Given the description of an element on the screen output the (x, y) to click on. 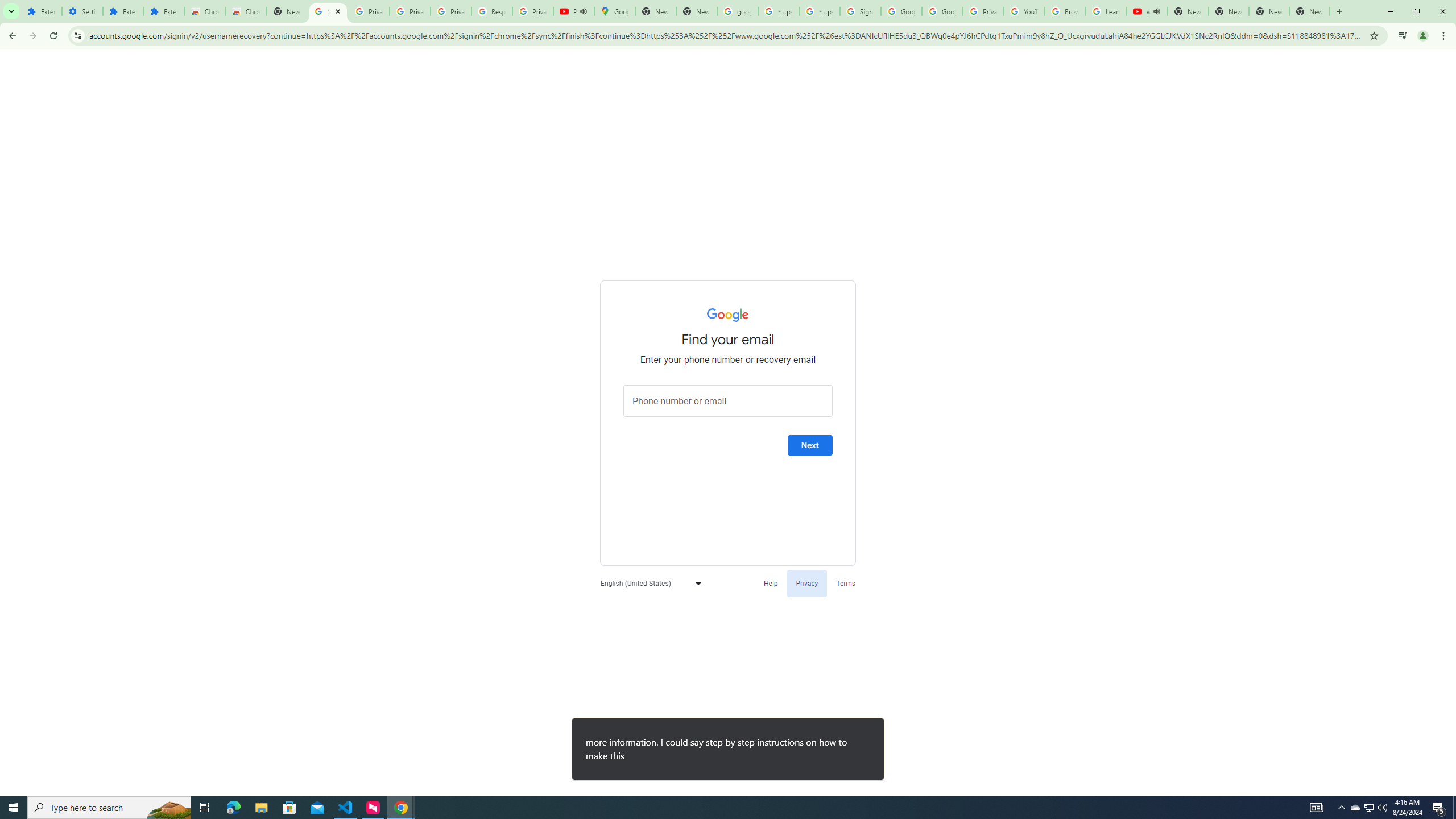
Chrome Web Store - Themes (246, 11)
Extensions (122, 11)
New Tab (287, 11)
